Given the description of an element on the screen output the (x, y) to click on. 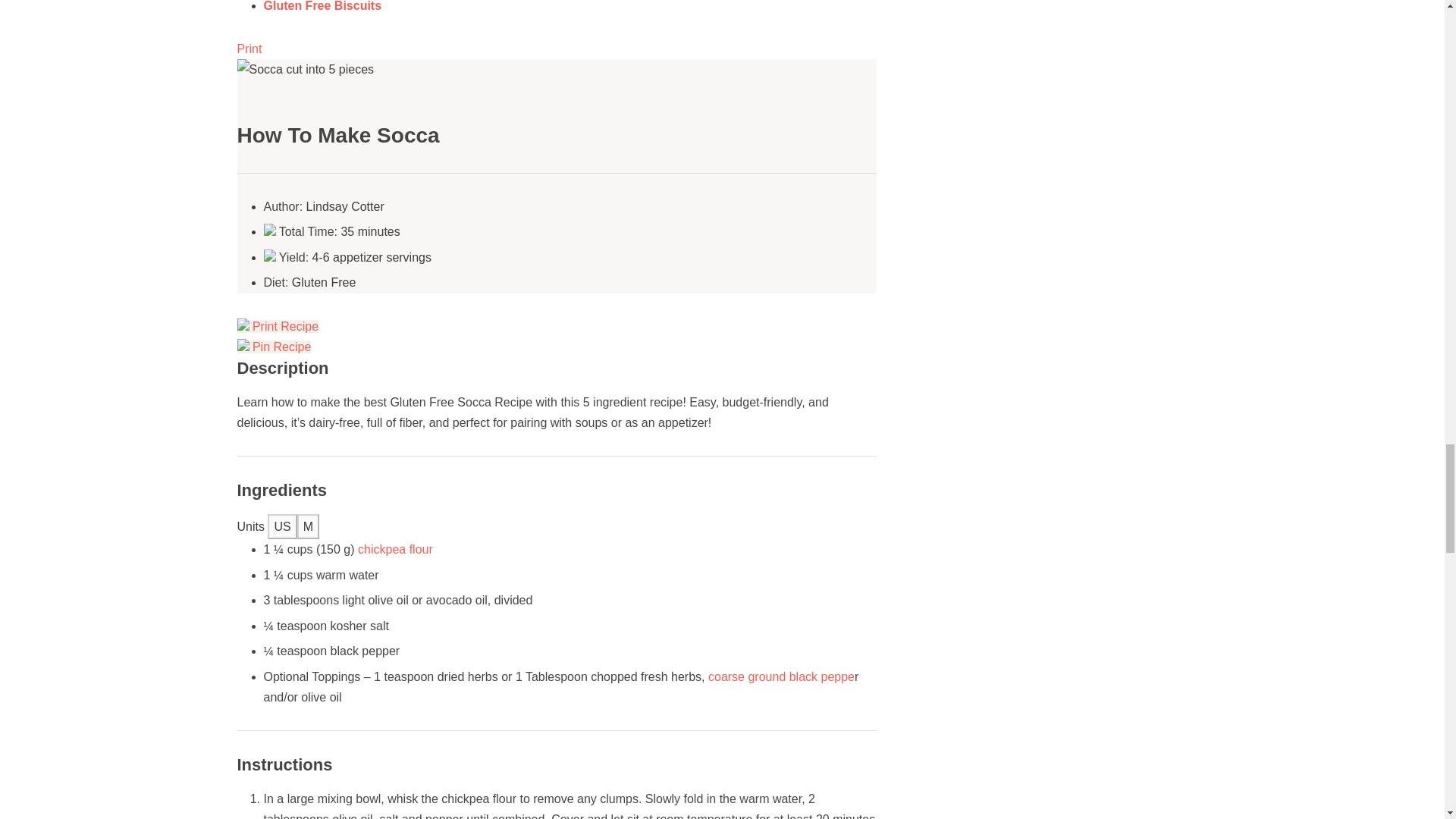
Print (248, 48)
Pin Recipe (273, 346)
coarse ground black peppe (780, 676)
US (282, 526)
Gluten Free Biscuits (322, 6)
Print Recipe (276, 326)
chickpea flour (395, 549)
